Given the description of an element on the screen output the (x, y) to click on. 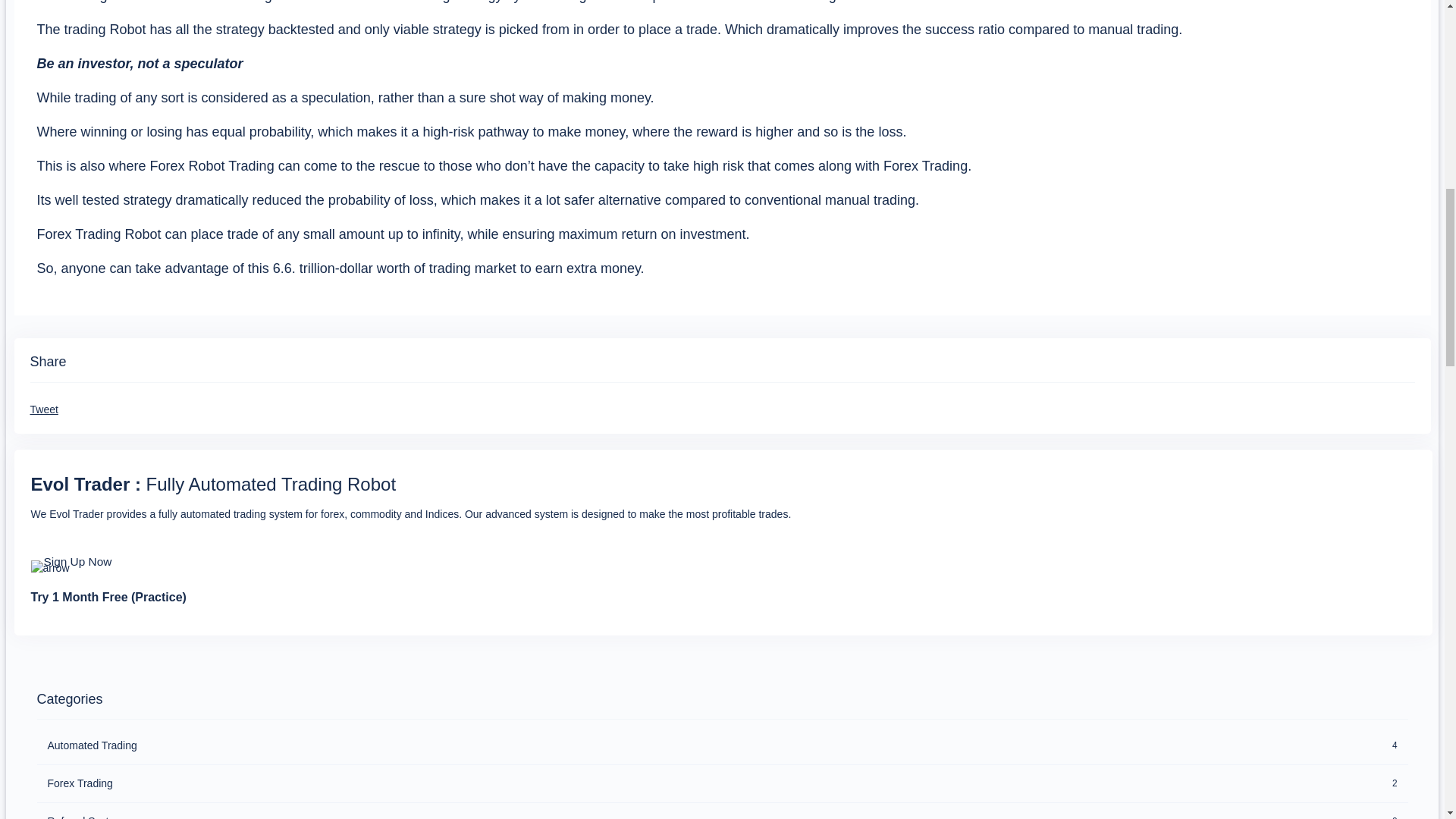
Sign Up Now (76, 560)
Tweet (44, 409)
